Given the description of an element on the screen output the (x, y) to click on. 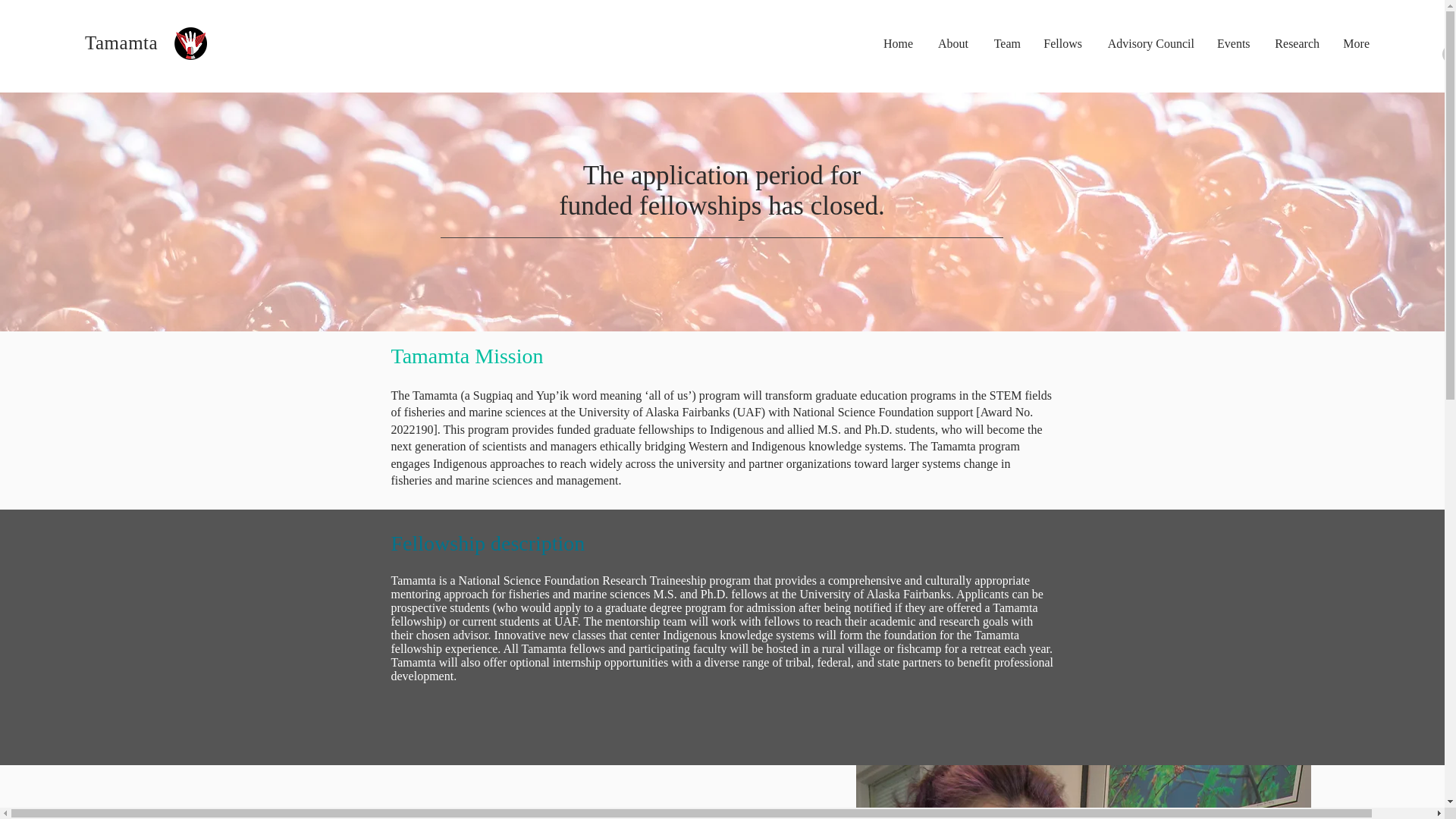
Team (1005, 44)
Home (896, 44)
About (951, 44)
Events (1232, 44)
Tamamta (120, 42)
Advisory Council (1149, 44)
Research (1295, 44)
Fellows (1062, 44)
